Given the description of an element on the screen output the (x, y) to click on. 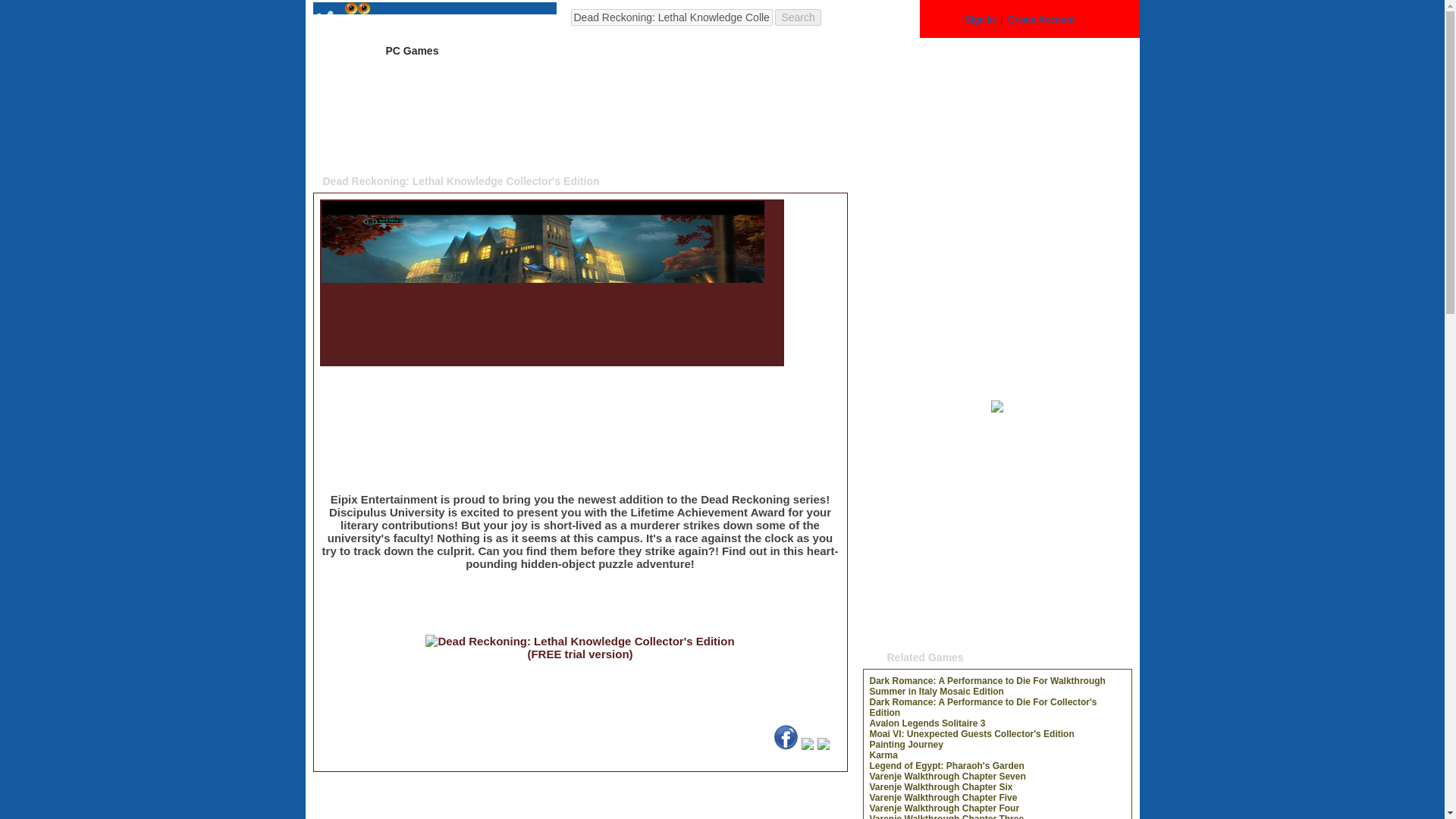
Varenje Walkthrough Chapter Seven (947, 776)
Top 100 (685, 50)
Varenje Walkthrough Chapter Five (942, 797)
Sign In (980, 19)
Dead Reckoning: Lethal Knowledge Collector's Edition (785, 745)
Dead Reckoning: Lethal Knowledge Collector's Edition (542, 359)
Varenje Walkthrough Chapter Three (946, 816)
Series Games (597, 50)
Dead Reckoning: Lethal Knowledge Collector's Edition (434, 20)
Moai VI: Unexpected Guests Collector's Edition (971, 733)
